Given the description of an element on the screen output the (x, y) to click on. 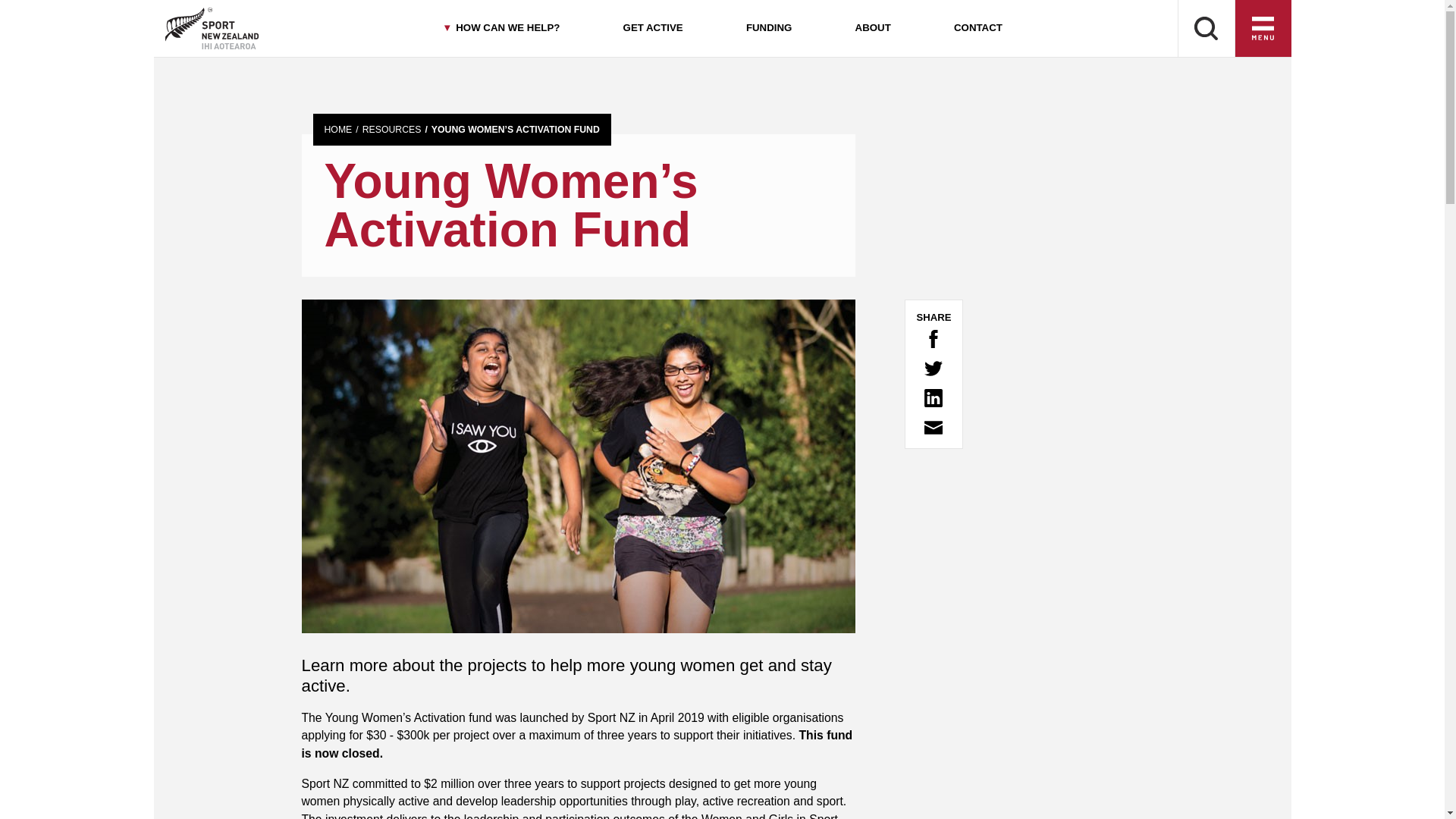
HOW CAN WE HELP? (500, 29)
Open the burger navigation (1262, 28)
Share via Email (932, 427)
FUNDING (768, 29)
ABOUT (872, 29)
CONTACT (977, 29)
GET ACTIVE (652, 29)
Search (1206, 28)
